Given the description of an element on the screen output the (x, y) to click on. 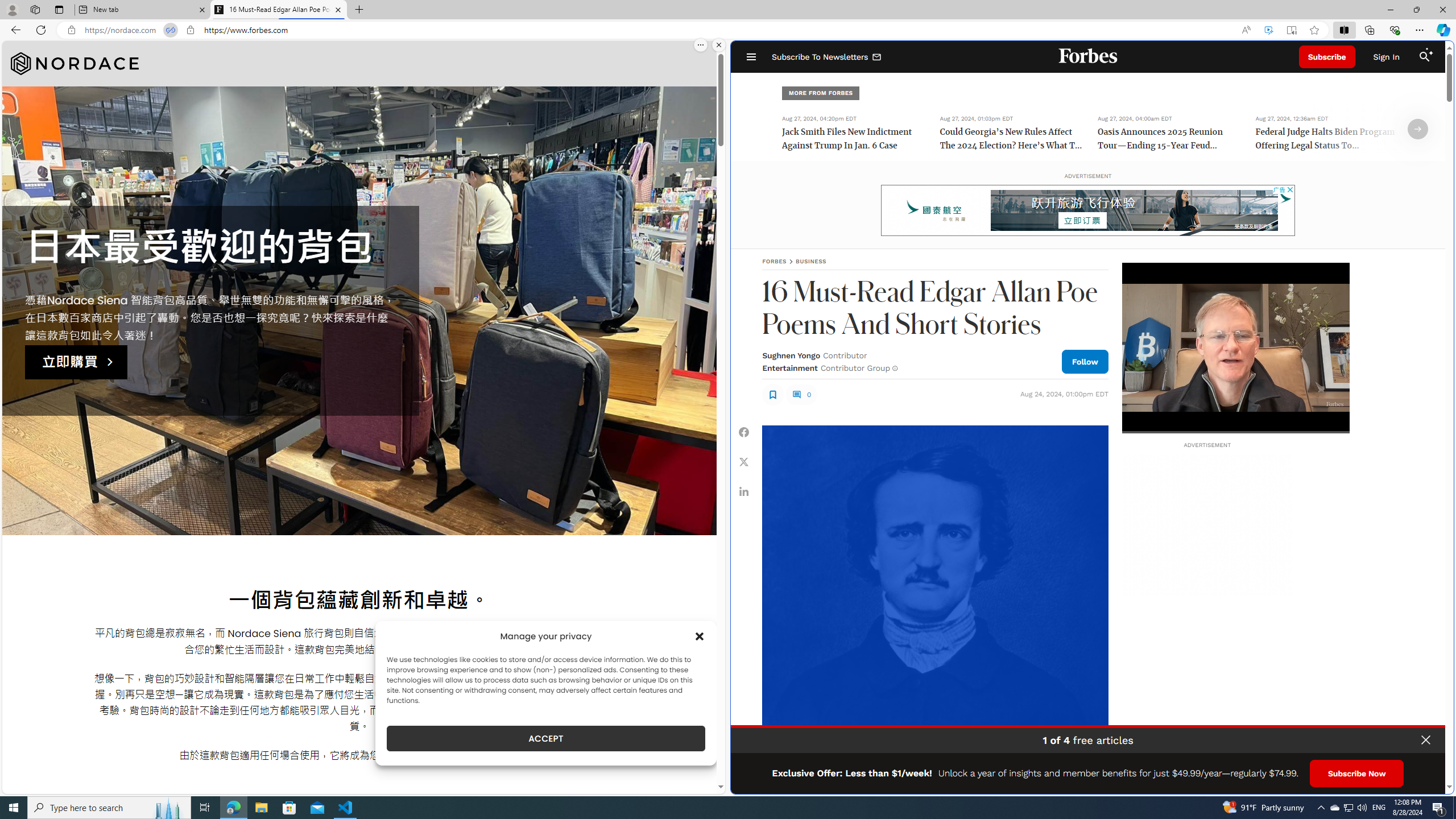
Class: fs-icon fs-icon--arrow-right (1417, 129)
Class: sparkles_svg__fs-icon sparkles_svg__fs-icon--sparkles (1430, 51)
Share Linkedin (743, 490)
New Tab (358, 9)
Refresh (40, 29)
Terms (1434, 781)
Sughnen Yongo (790, 354)
Collections (1369, 29)
Class: fs-icon fs-icon--comment (796, 394)
New tab (142, 9)
More options. (700, 45)
